Given the description of an element on the screen output the (x, y) to click on. 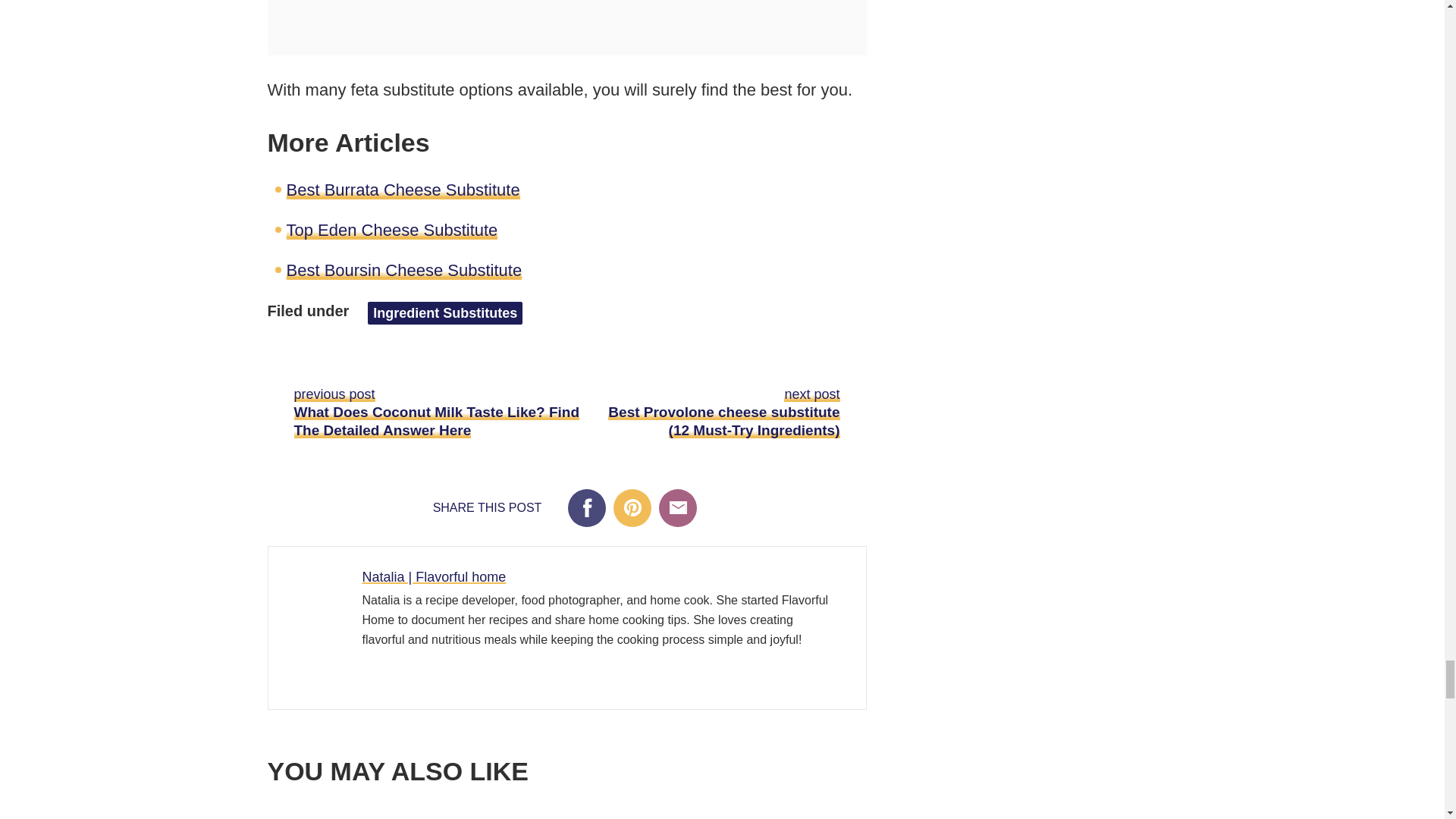
Ingredient Substitutes (445, 313)
Top Eden Cheese Substitute (391, 229)
Best Burrata Cheese Substitute (402, 189)
Best Boursin Cheese Substitute (404, 270)
